Given the description of an element on the screen output the (x, y) to click on. 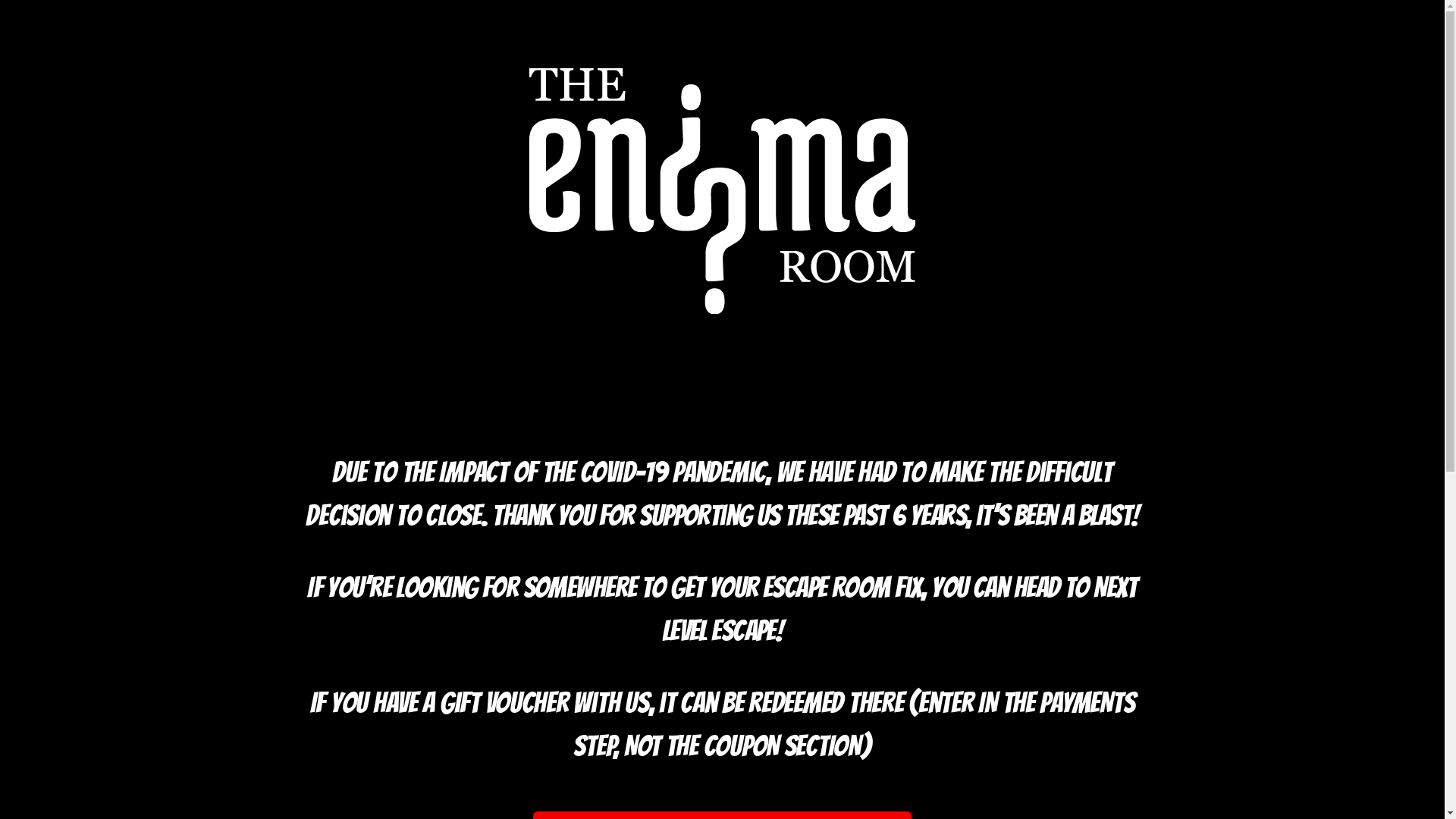
Logo Type (White) Element type: hover (722, 190)
